Given the description of an element on the screen output the (x, y) to click on. 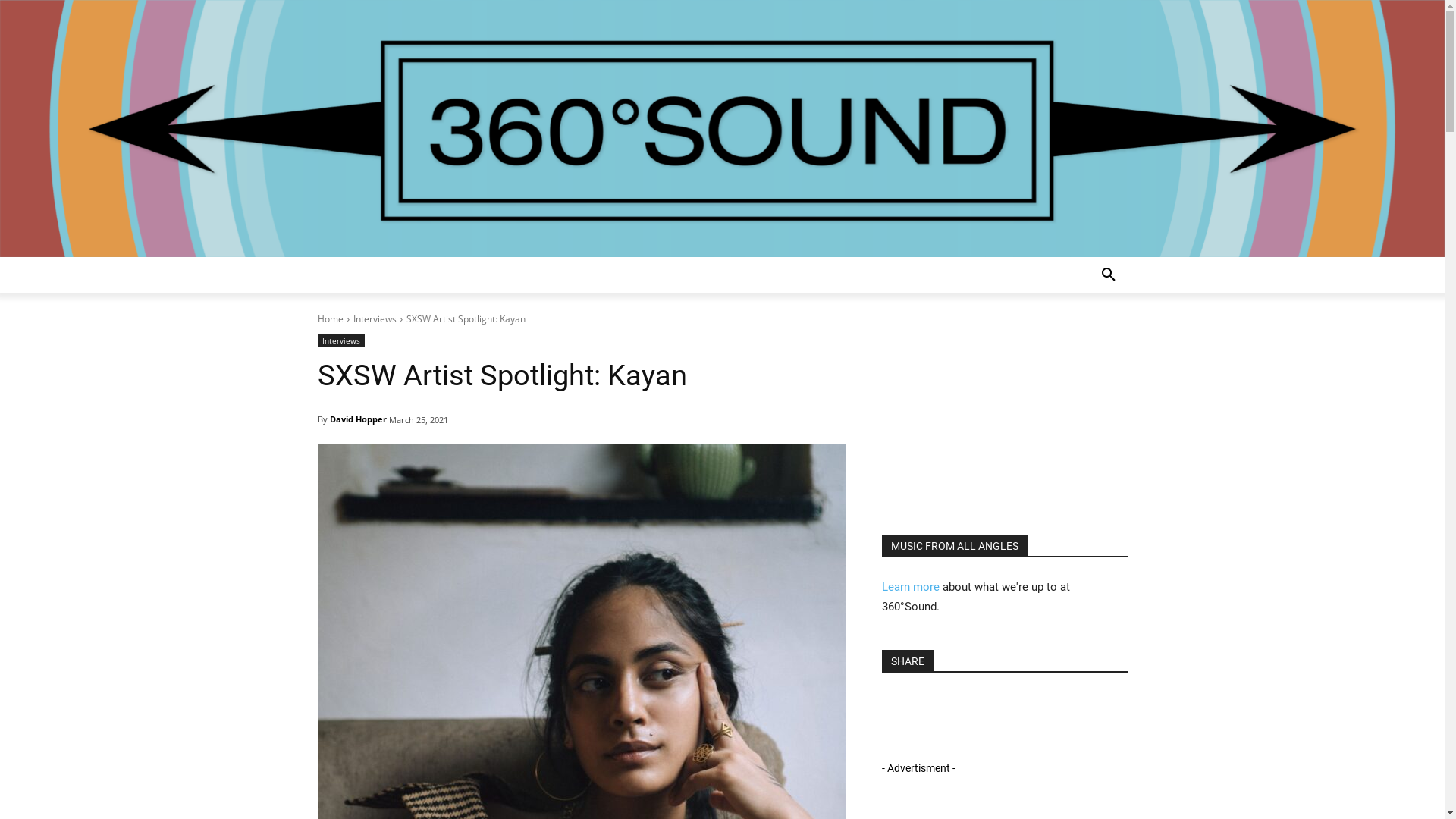
Learn more Element type: text (909, 586)
Interviews Element type: text (374, 318)
Interviews Element type: text (340, 340)
David Hopper Element type: text (357, 418)
Home Element type: text (329, 318)
